Given the description of an element on the screen output the (x, y) to click on. 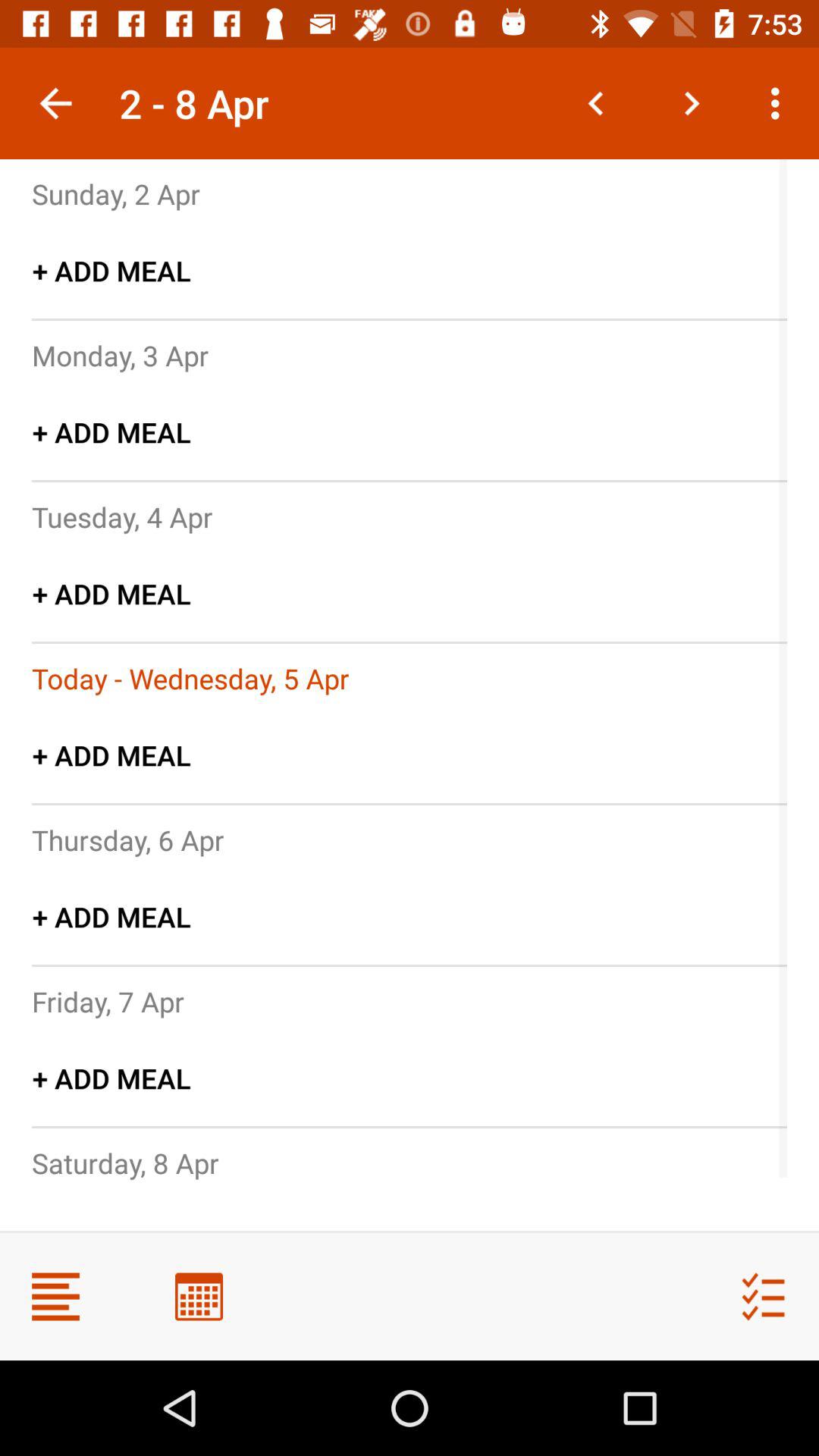
click icon below + add meal (124, 1162)
